Given the description of an element on the screen output the (x, y) to click on. 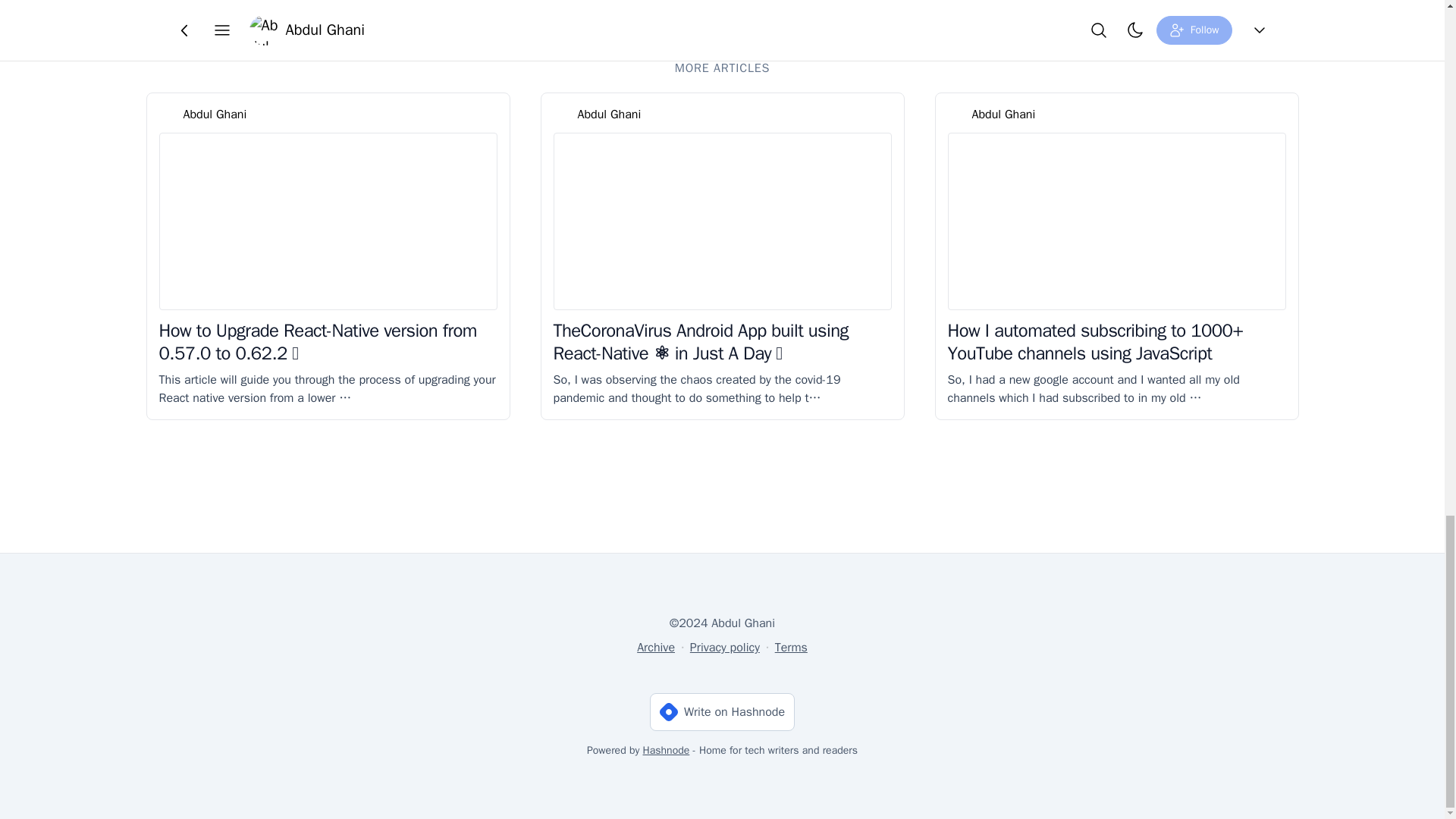
Abdul Ghani (215, 114)
